Given the description of an element on the screen output the (x, y) to click on. 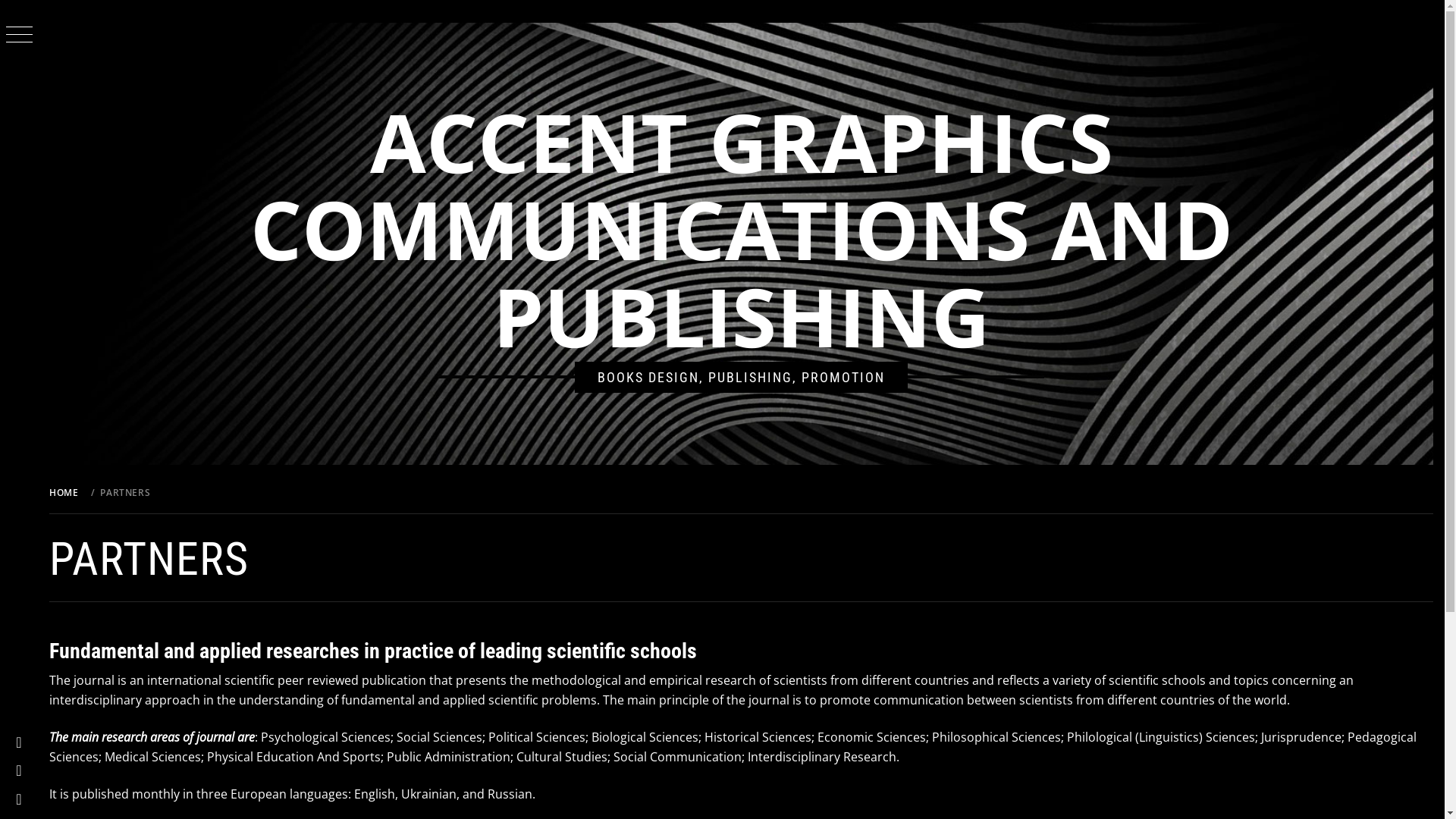
HOME Element type: text (66, 492)
Search Element type: text (645, 37)
ACCENT GRAPHICS COMMUNICATIONS AND PUBLISHING Element type: text (741, 228)
Skip to content Element type: text (0, 0)
